Given the description of an element on the screen output the (x, y) to click on. 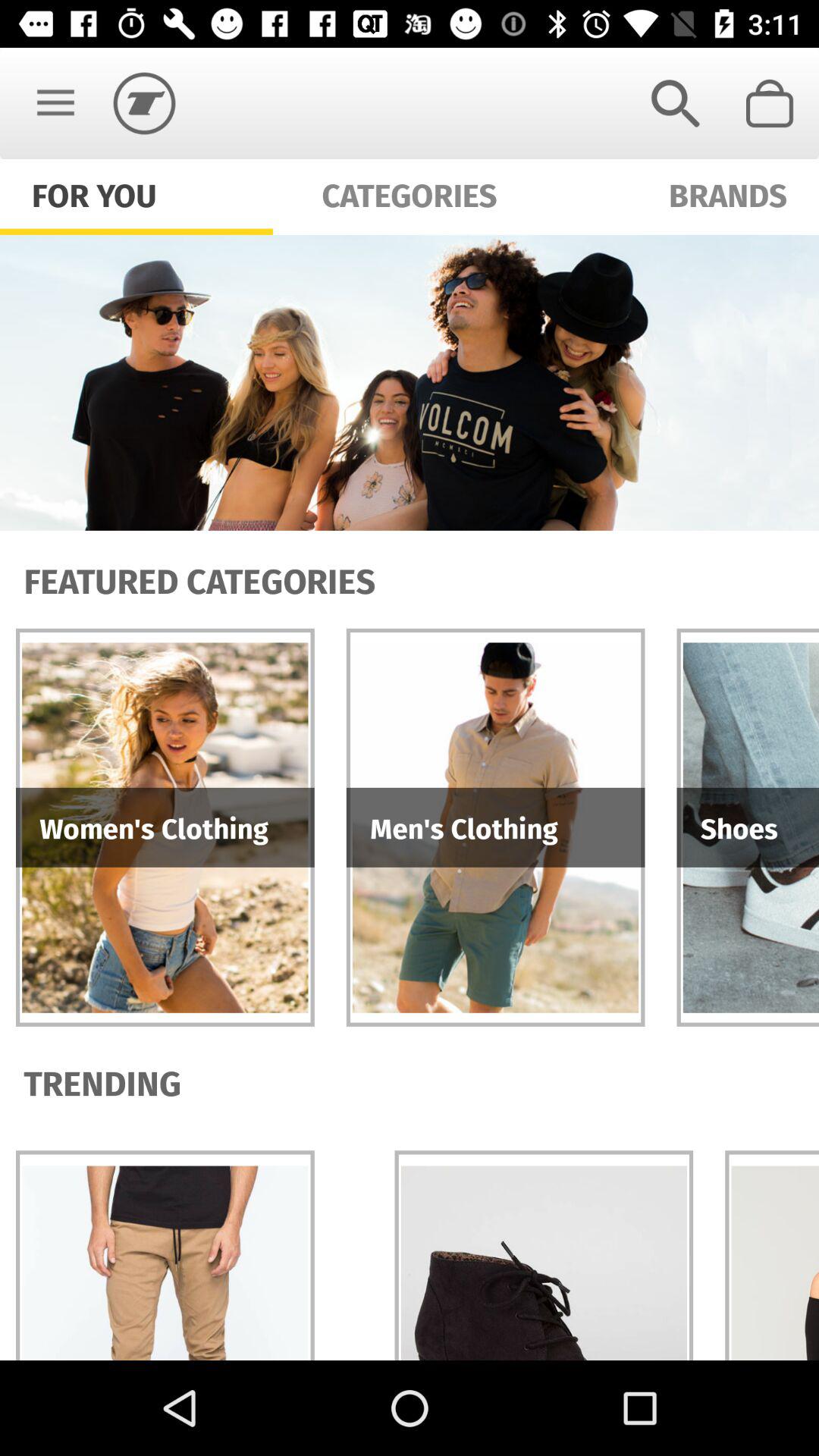
launch item above the featured categories (409, 382)
